Given the description of an element on the screen output the (x, y) to click on. 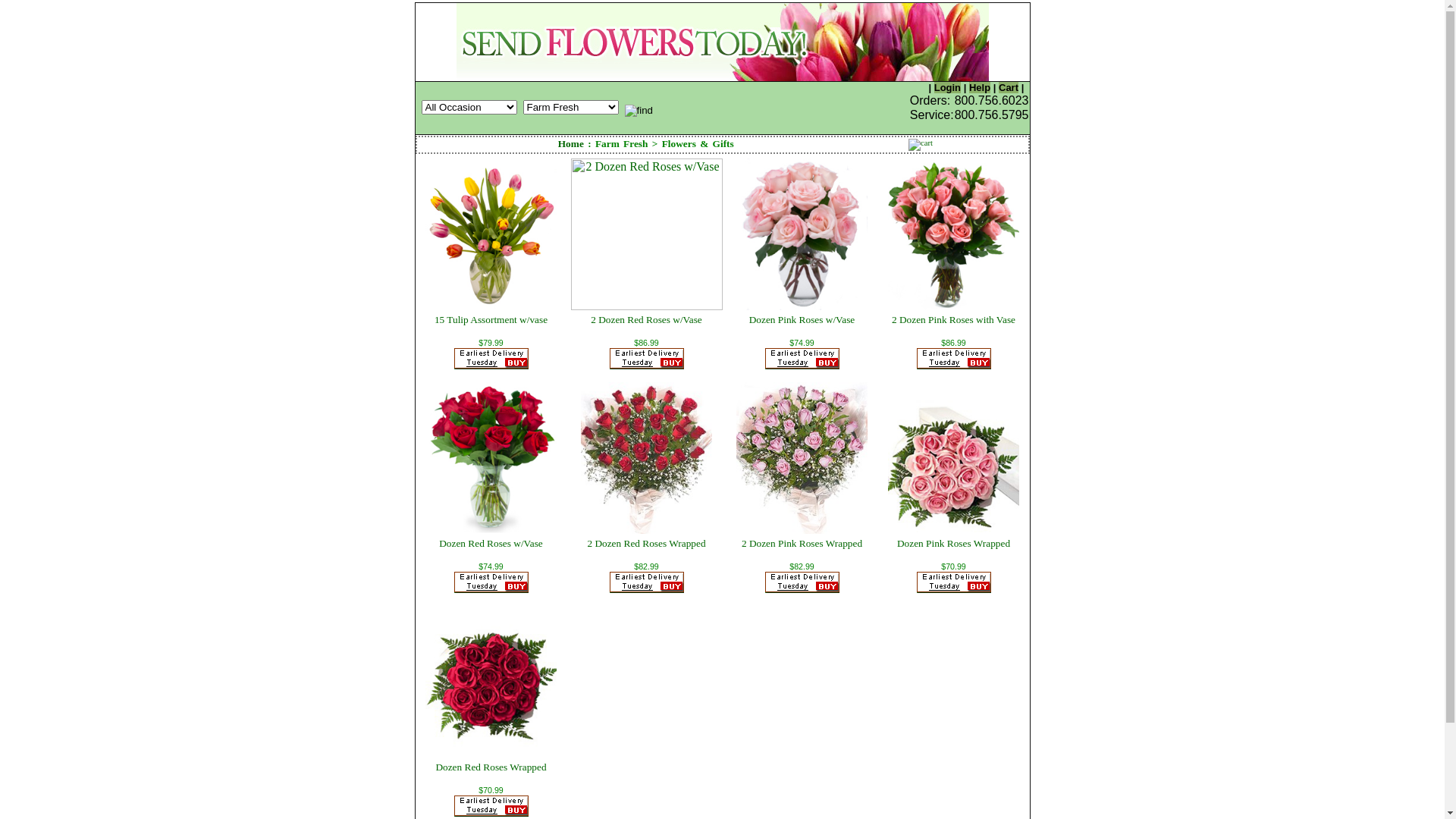
Dozen Pink Roses Wrapped Element type: text (953, 543)
2 Dozen Pink Roses Wrapped Element type: text (801, 543)
Help Element type: text (979, 87)
15 Tulip Assortment w/vase Element type: text (490, 319)
Dozen Pink Roses w/Vase Element type: text (802, 319)
2 Dozen Pink Roses with Vase Element type: text (953, 319)
2 Dozen Red Roses Wrapped Element type: text (645, 543)
Home Element type: text (570, 143)
Login Element type: text (947, 87)
Cart Element type: text (1008, 87)
Dozen Red Roses Wrapped Element type: text (490, 766)
2 Dozen Red Roses w/Vase Element type: text (646, 319)
Dozen Red Roses w/Vase Element type: text (490, 543)
